Given the description of an element on the screen output the (x, y) to click on. 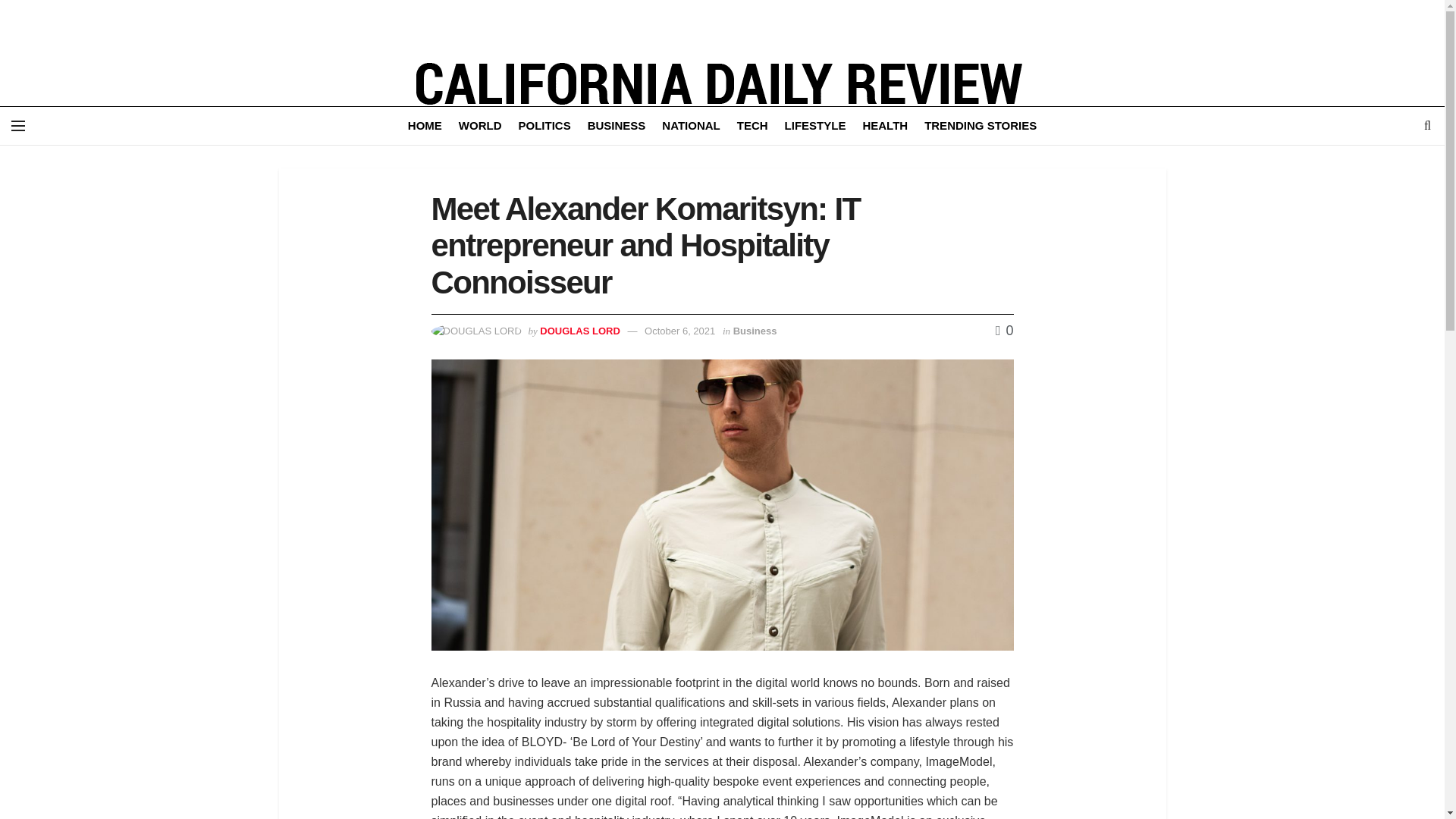
LIFESTYLE (814, 125)
HOME (424, 125)
POLITICS (544, 125)
TECH (752, 125)
0 (1004, 330)
DOUGLAS LORD (580, 329)
NATIONAL (690, 125)
TRENDING STORIES (980, 125)
WORLD (480, 125)
BUSINESS (617, 125)
October 6, 2021 (679, 329)
HEALTH (884, 125)
Business (755, 329)
